Given the description of an element on the screen output the (x, y) to click on. 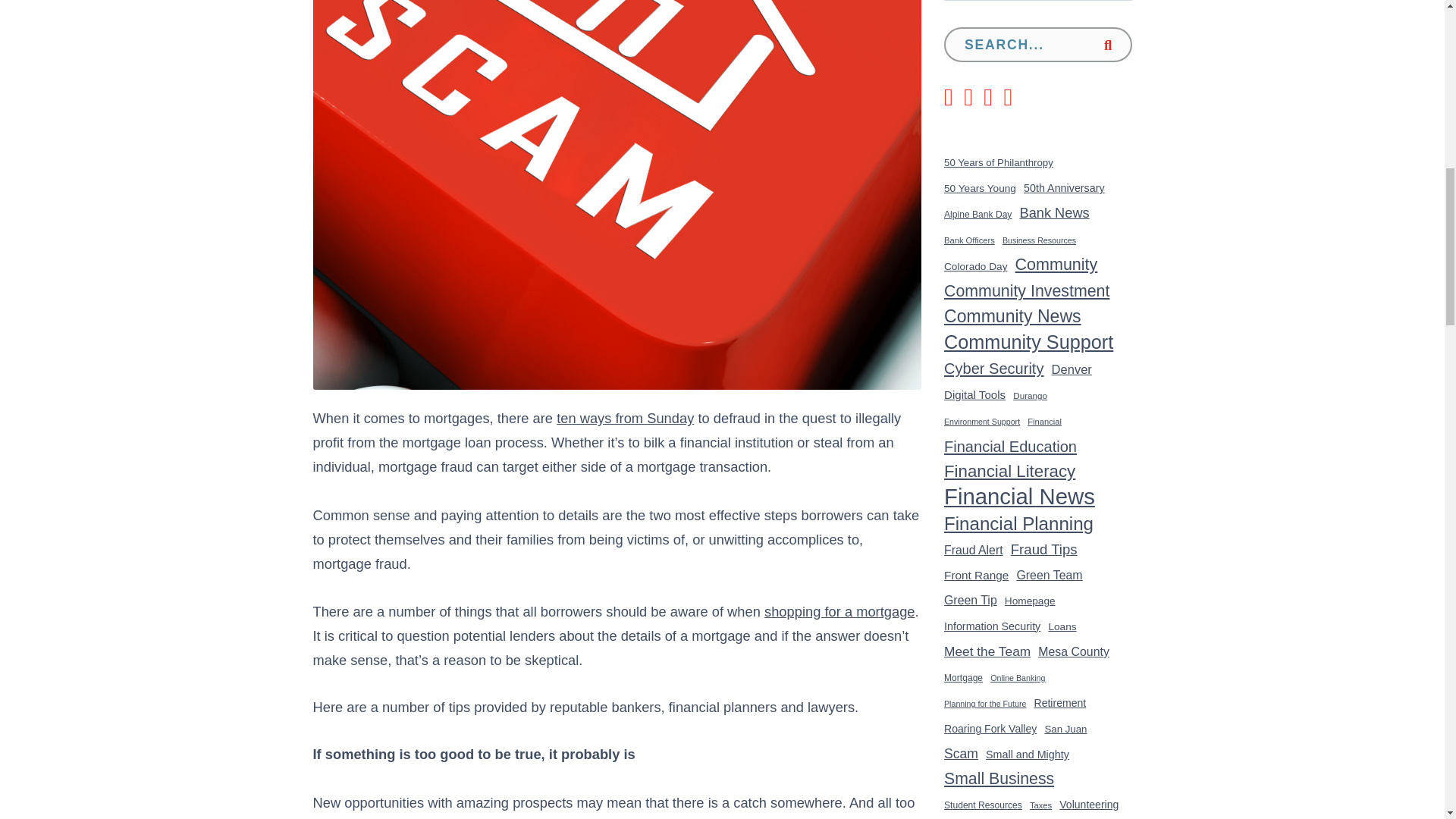
Search... (1037, 44)
shopping for a mortgage (839, 611)
ten ways from Sunday (625, 417)
